Given the description of an element on the screen output the (x, y) to click on. 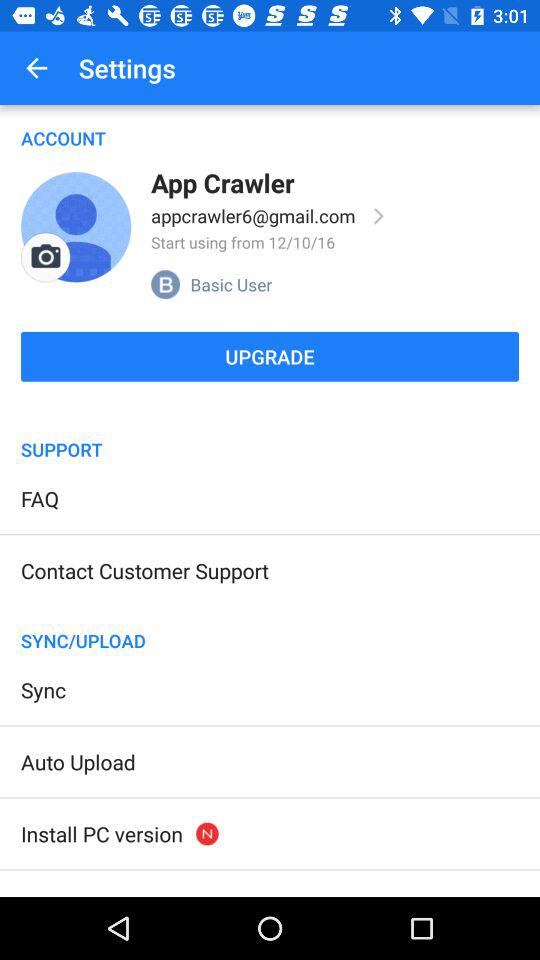
select icon to the left of settings icon (36, 68)
